Given the description of an element on the screen output the (x, y) to click on. 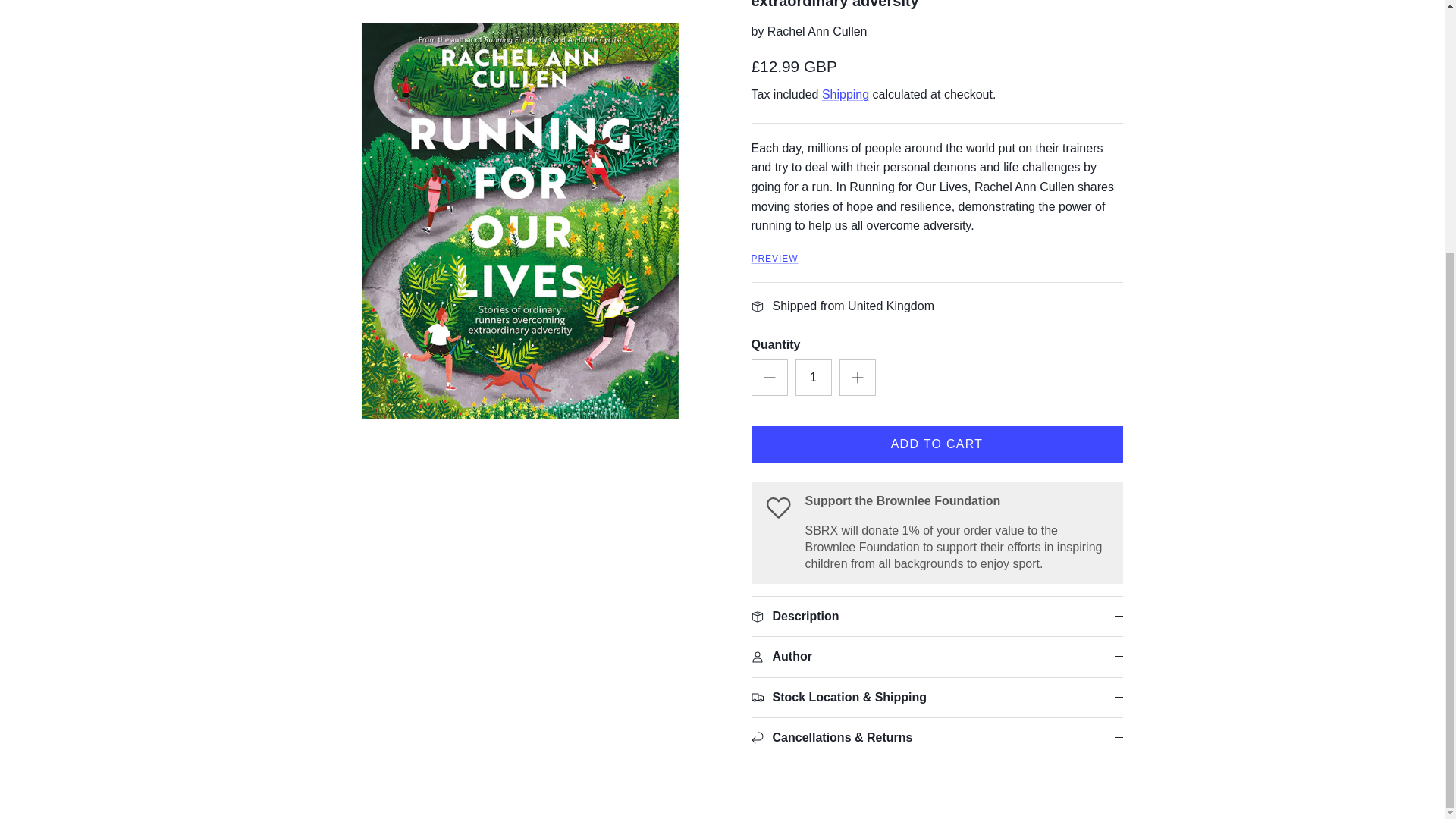
1 (812, 339)
